Given the description of an element on the screen output the (x, y) to click on. 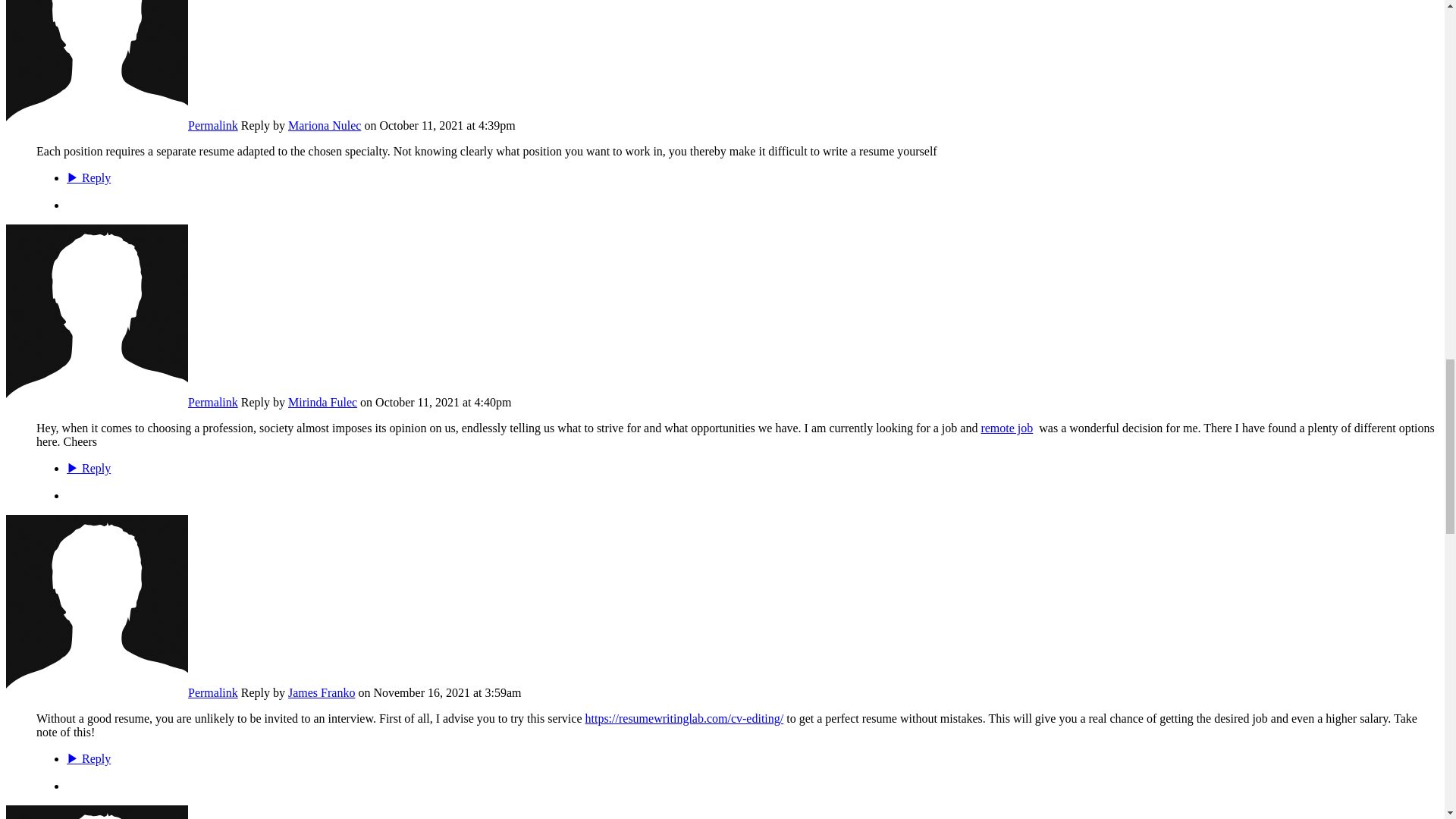
Permalink to this Reply (212, 401)
Mariona Nulec (96, 124)
Permalink to this Reply (212, 692)
Mirinda Fulec (96, 401)
James Franko (96, 692)
Permalink to this Reply (212, 124)
